Given the description of an element on the screen output the (x, y) to click on. 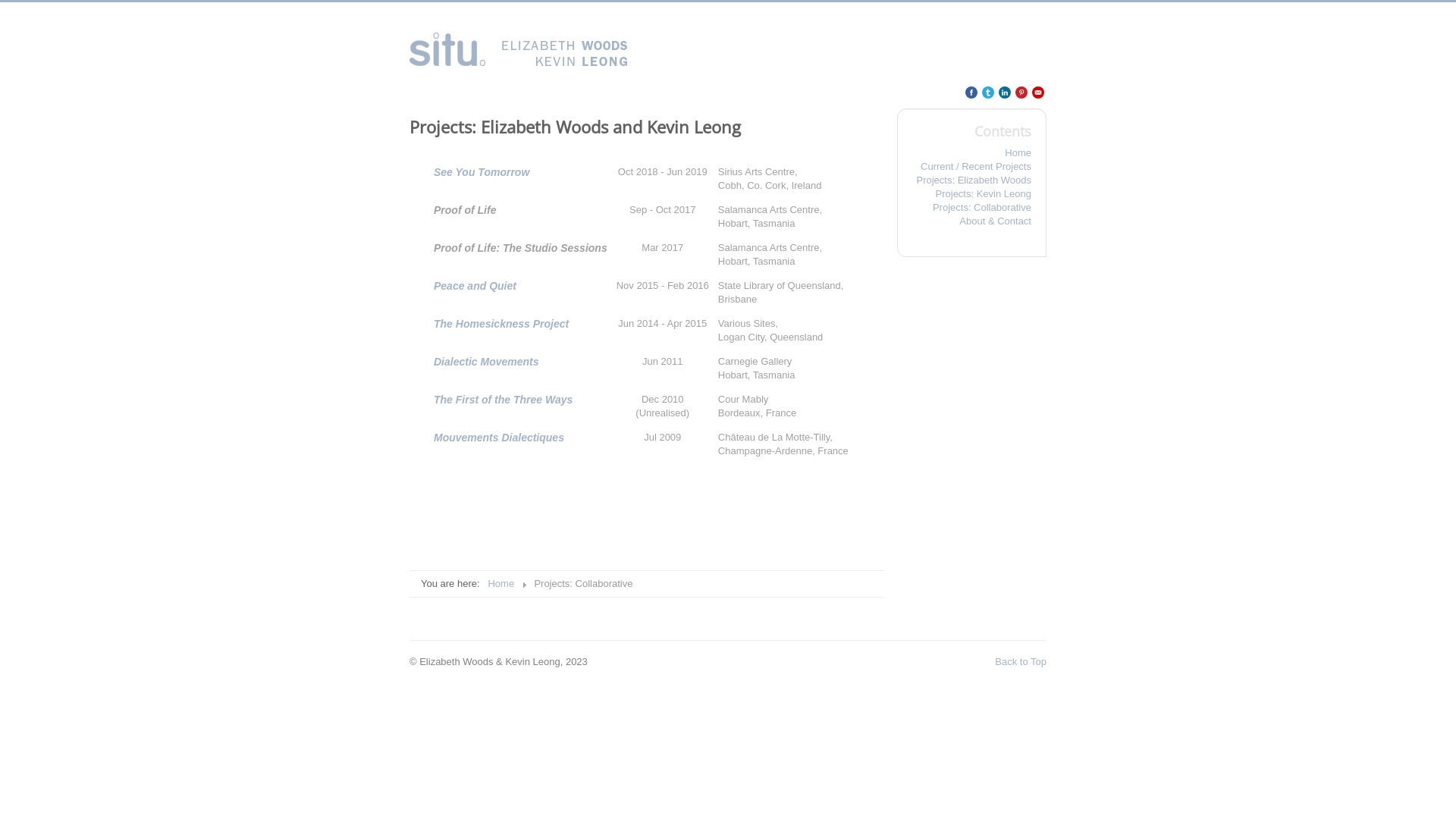
The Homesickness Project Element type: text (500, 323)
Home Element type: text (971, 153)
Projects: Collaborative Element type: text (971, 207)
The First of the Three Ways Element type: text (502, 399)
Current / Recent Projects Element type: text (971, 166)
Recommend this page Element type: hover (1038, 92)
About & Contact Element type: text (971, 221)
Share on LinkedIn Element type: hover (1004, 92)
Share on Facebook Element type: hover (971, 92)
Home Element type: text (500, 583)
Dialectic Movements Element type: text (486, 361)
Projects: Elizabeth Woods Element type: text (971, 180)
Projects: Kevin Leong Element type: text (971, 193)
See You Tomorrow Element type: text (481, 172)
Back to Top Element type: text (1020, 661)
Share on Twitter Element type: hover (988, 92)
Peace and Quiet Element type: text (474, 285)
Mouvements Dialectiques Element type: text (498, 437)
